Given the description of an element on the screen output the (x, y) to click on. 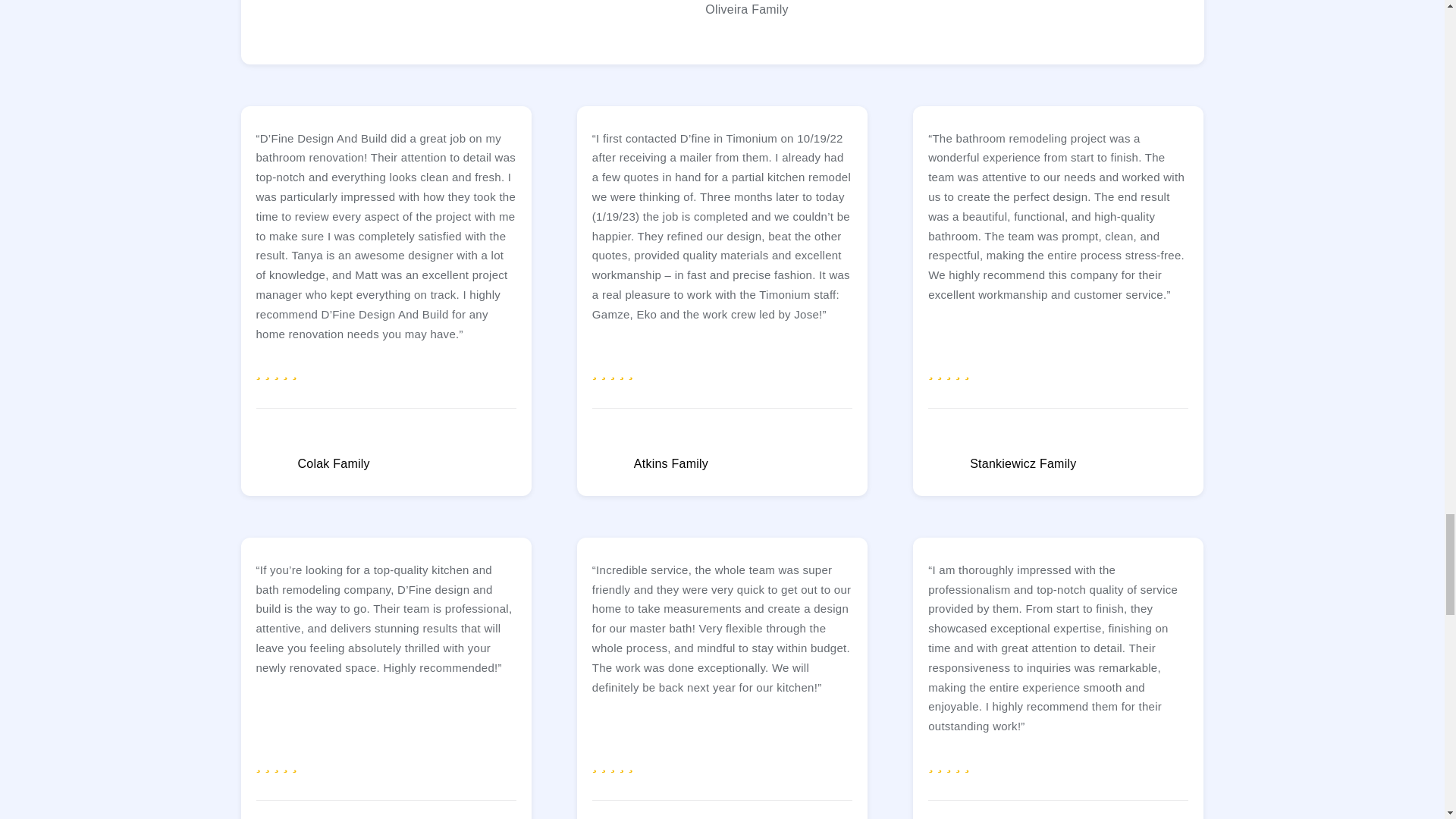
googlelogo (675, 17)
googlelogo (271, 465)
googlelogo (607, 465)
googlelogo (943, 465)
